Given the description of an element on the screen output the (x, y) to click on. 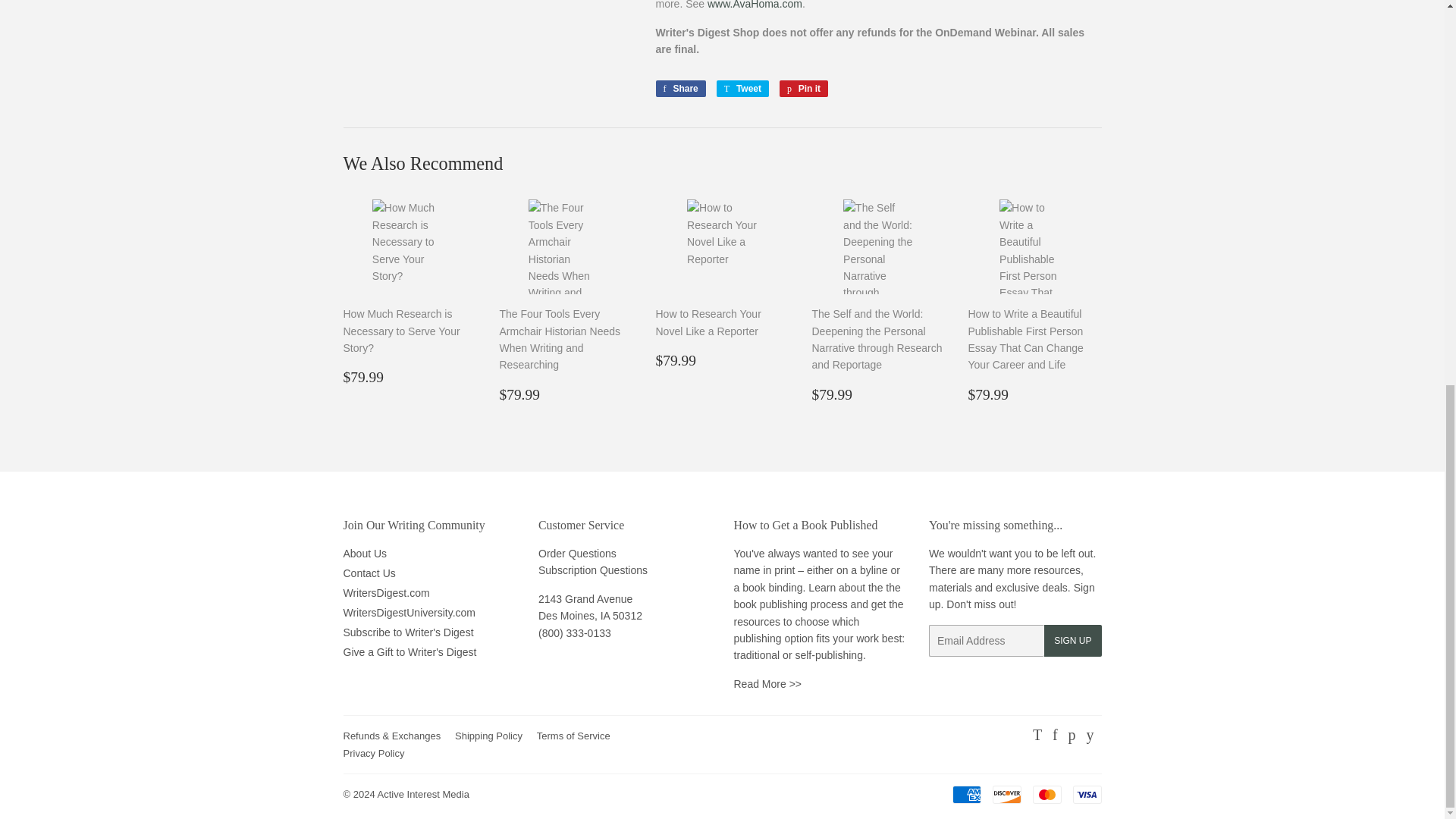
American Express (966, 794)
Magazine Self Service (592, 570)
Tweet on Twitter (742, 88)
Discover (1005, 794)
Visa (1085, 794)
Share on Facebook (679, 88)
Pin on Pinterest (803, 88)
Mastercard (1046, 794)
Customer Service (574, 633)
Contact Us (576, 553)
